Given the description of an element on the screen output the (x, y) to click on. 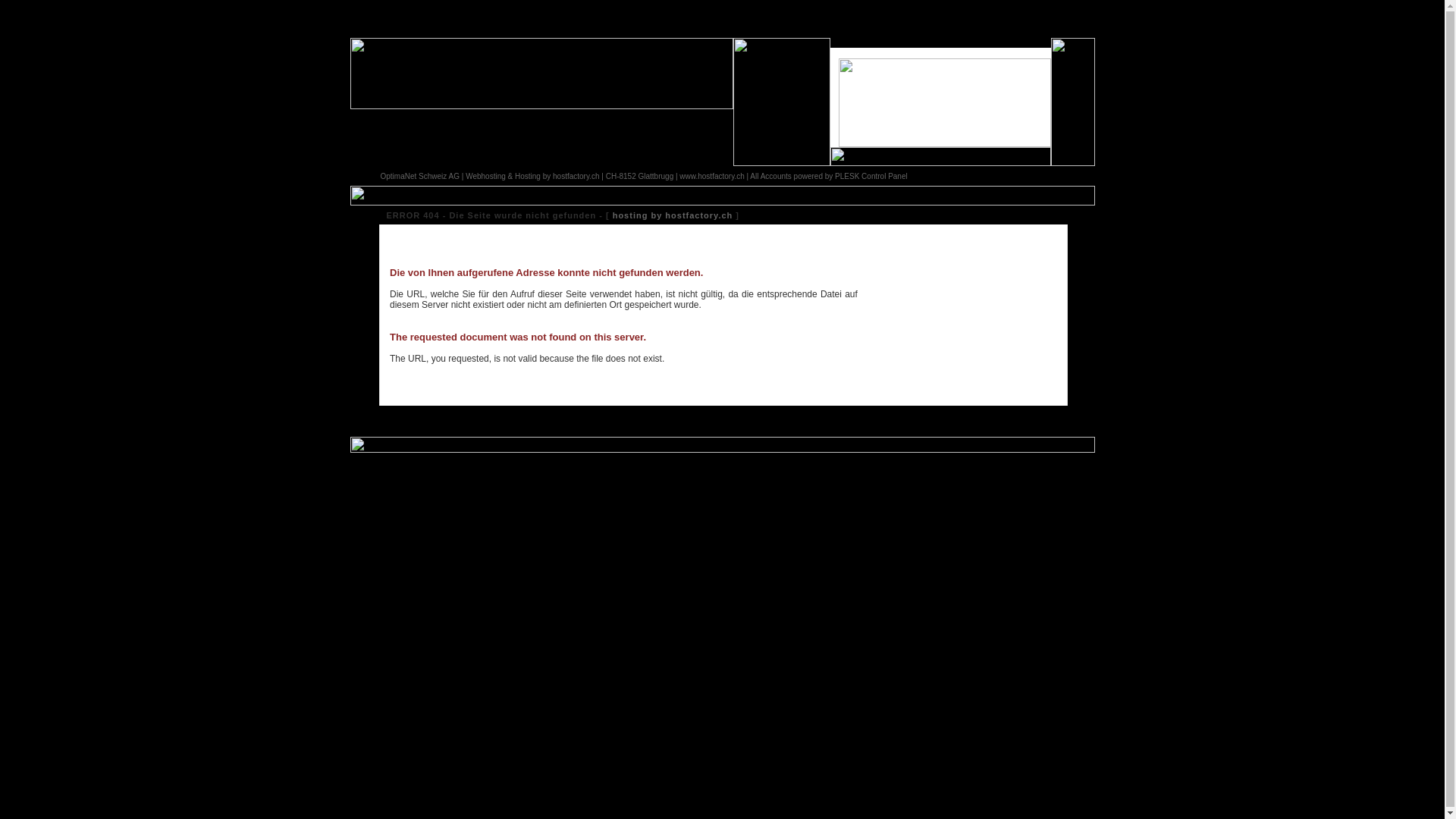
Hosting Element type: text (527, 175)
hosting by hostfactory.ch Element type: text (672, 214)
Webhosting Element type: text (485, 175)
